Given the description of an element on the screen output the (x, y) to click on. 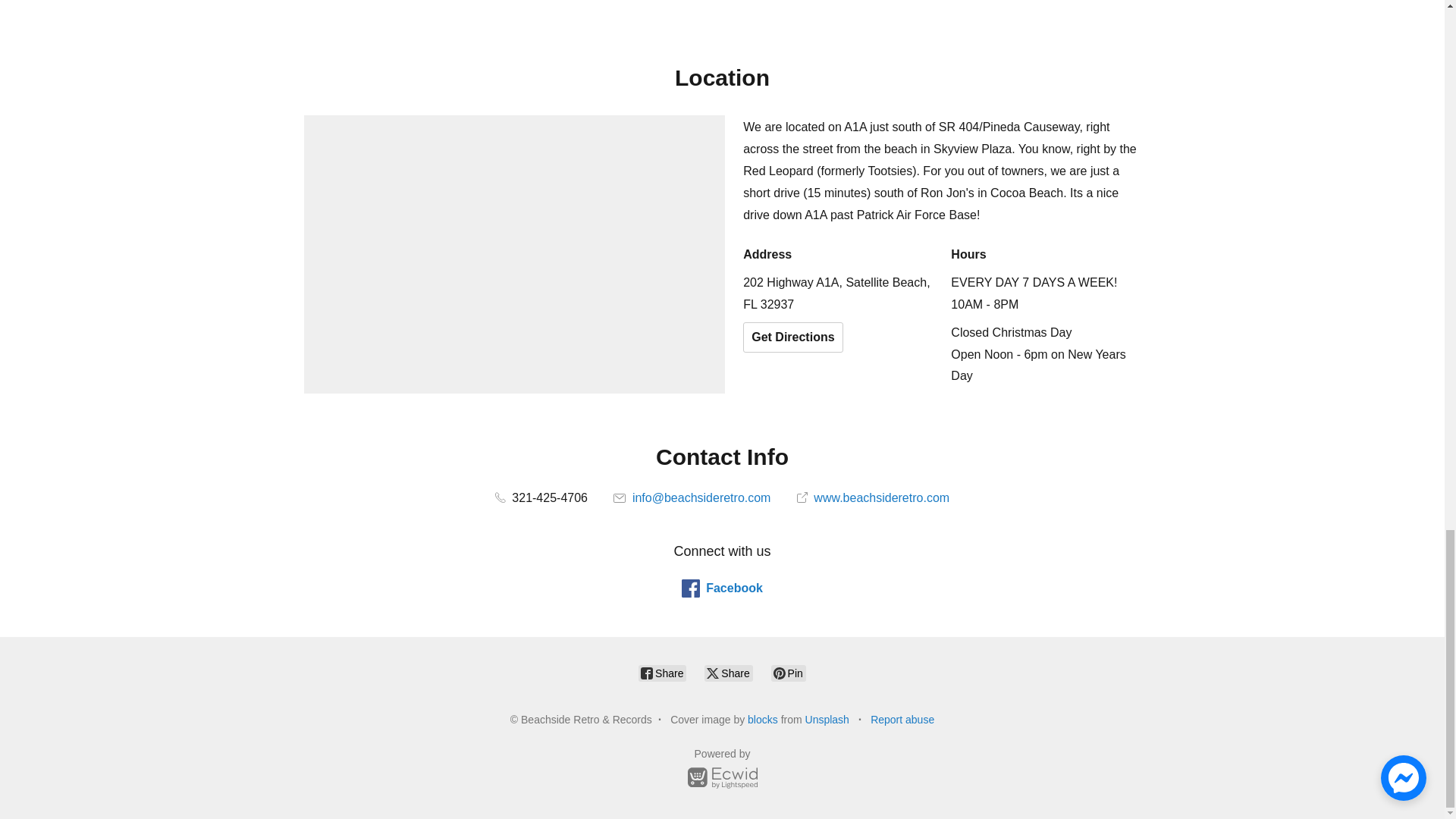
Location on map (513, 254)
